Given the description of an element on the screen output the (x, y) to click on. 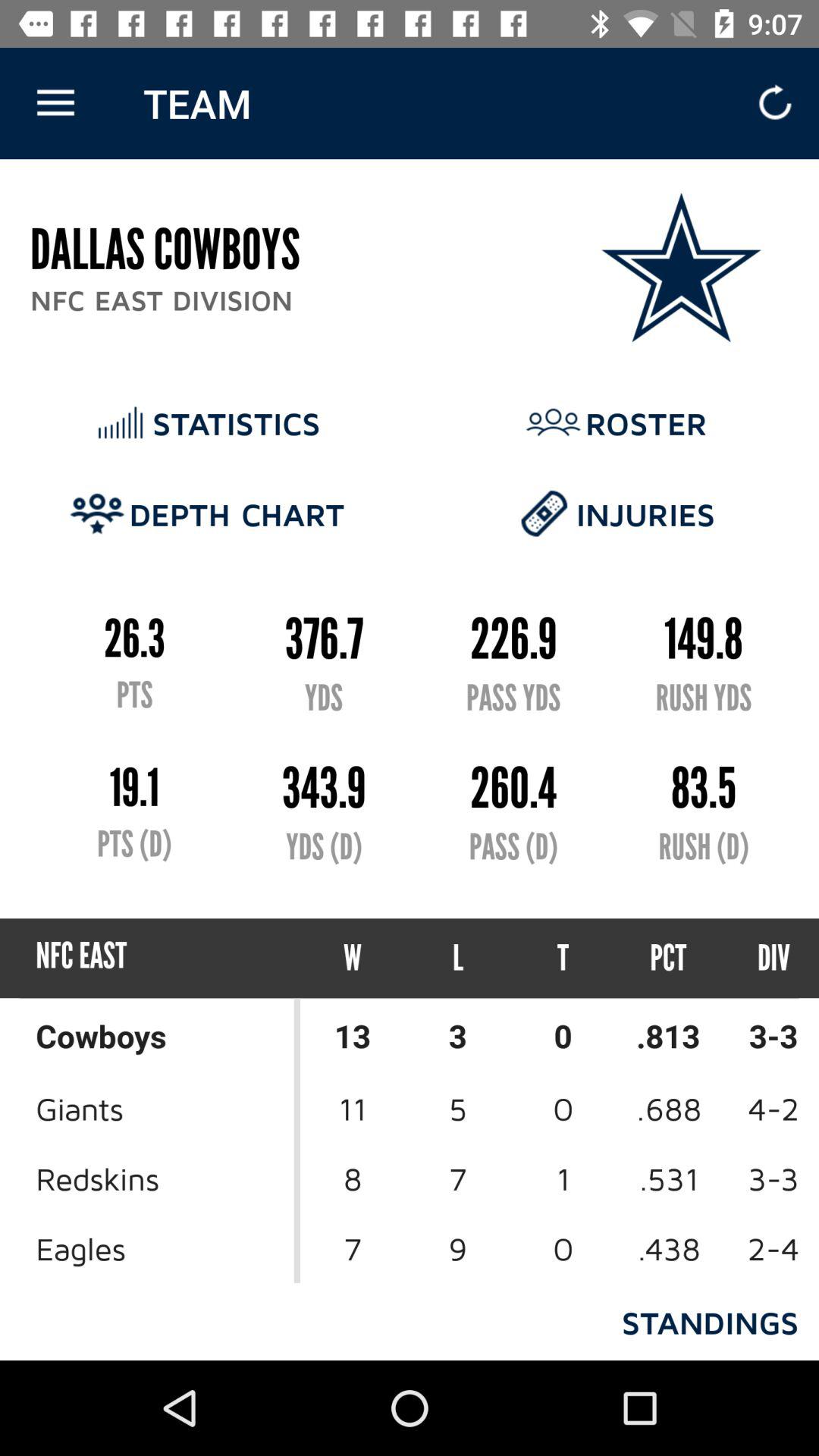
turn off item below yds (d) icon (352, 958)
